Given the description of an element on the screen output the (x, y) to click on. 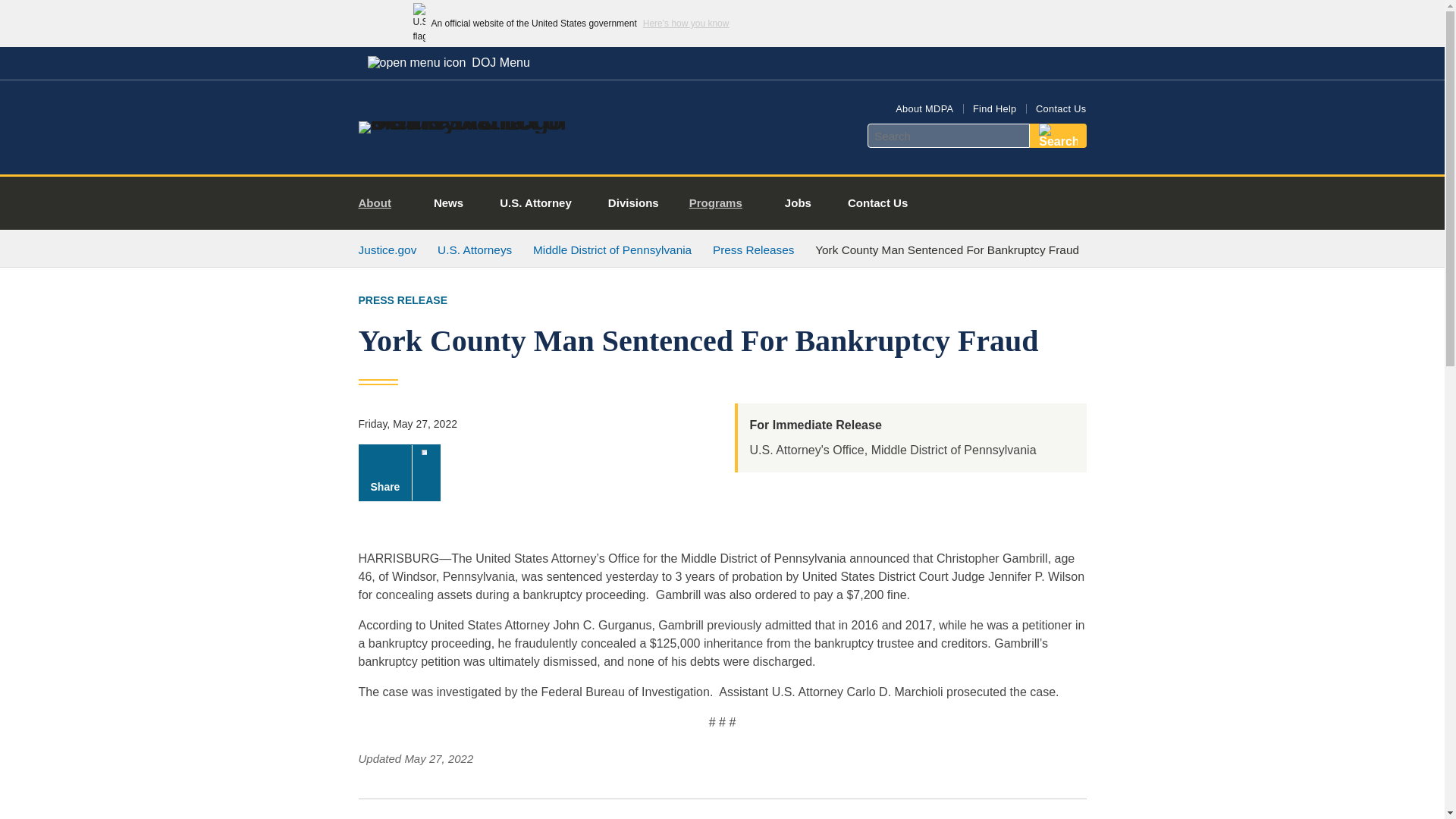
Press Releases (753, 249)
Find Help (994, 108)
Programs (722, 203)
U.S. Attorney (535, 203)
Home (481, 121)
DOJ Menu (448, 62)
U.S. Attorneys (475, 249)
News (447, 203)
About (380, 203)
Here's how you know (686, 23)
